Given the description of an element on the screen output the (x, y) to click on. 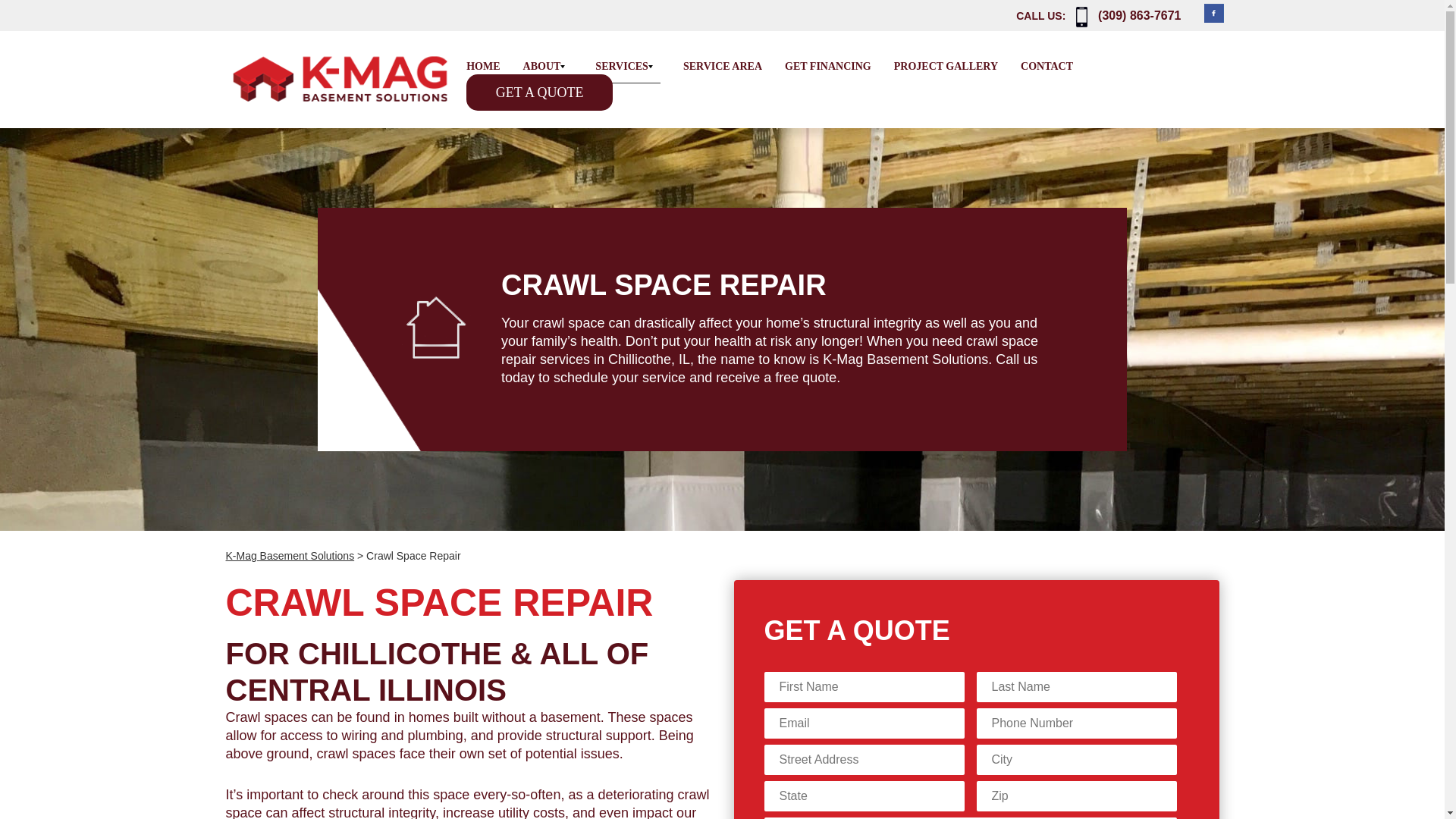
Get Financing (827, 66)
ABOUT (547, 66)
Service Area (721, 66)
Go to K-Mag Basement Solutions. (290, 555)
Contact (1046, 66)
PROJECT GALLERY (945, 66)
SERVICES (628, 66)
Get A Quote (538, 92)
Project Gallery (945, 66)
HOME (482, 66)
